Given the description of an element on the screen output the (x, y) to click on. 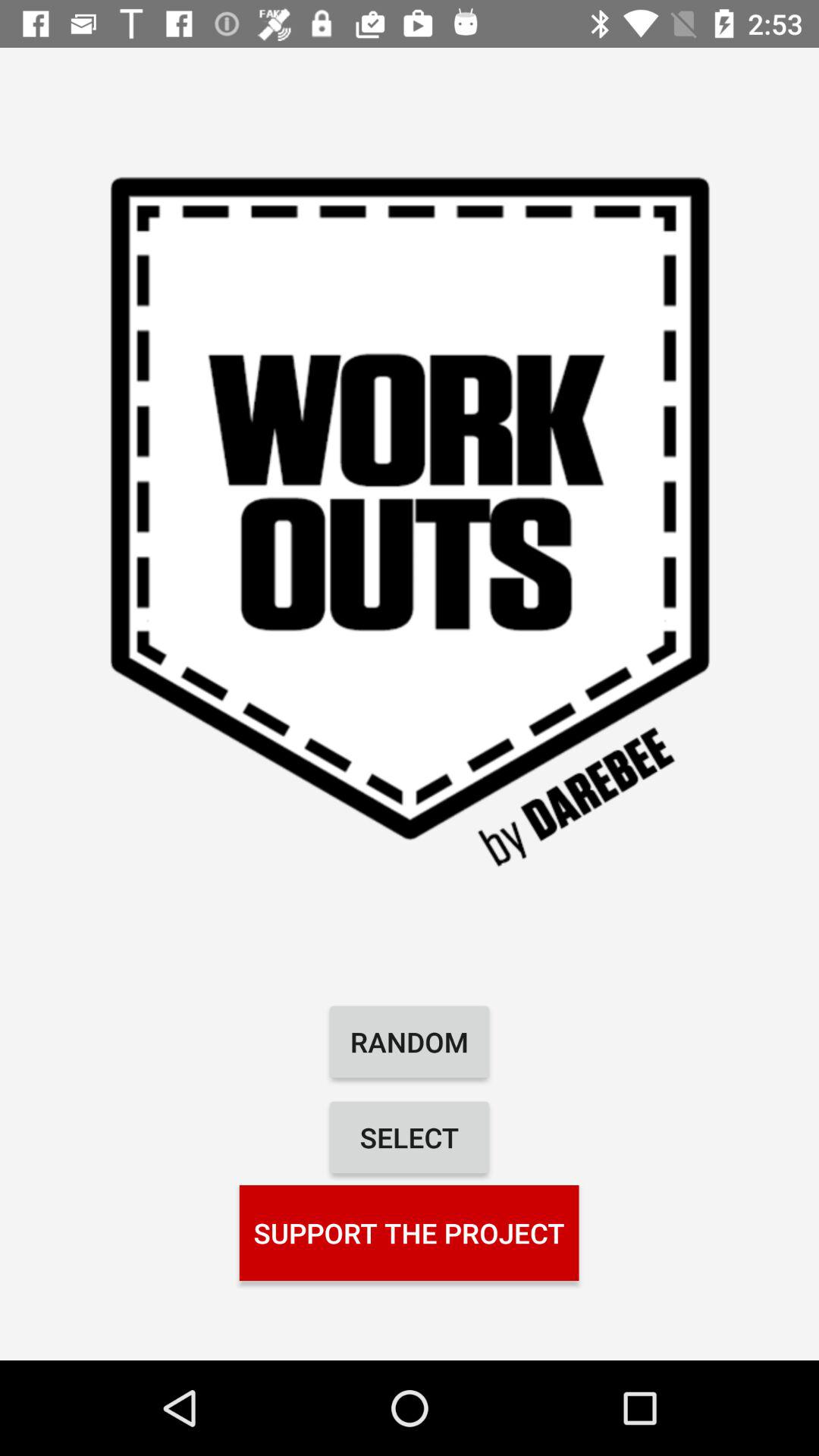
press the support the project (408, 1232)
